Given the description of an element on the screen output the (x, y) to click on. 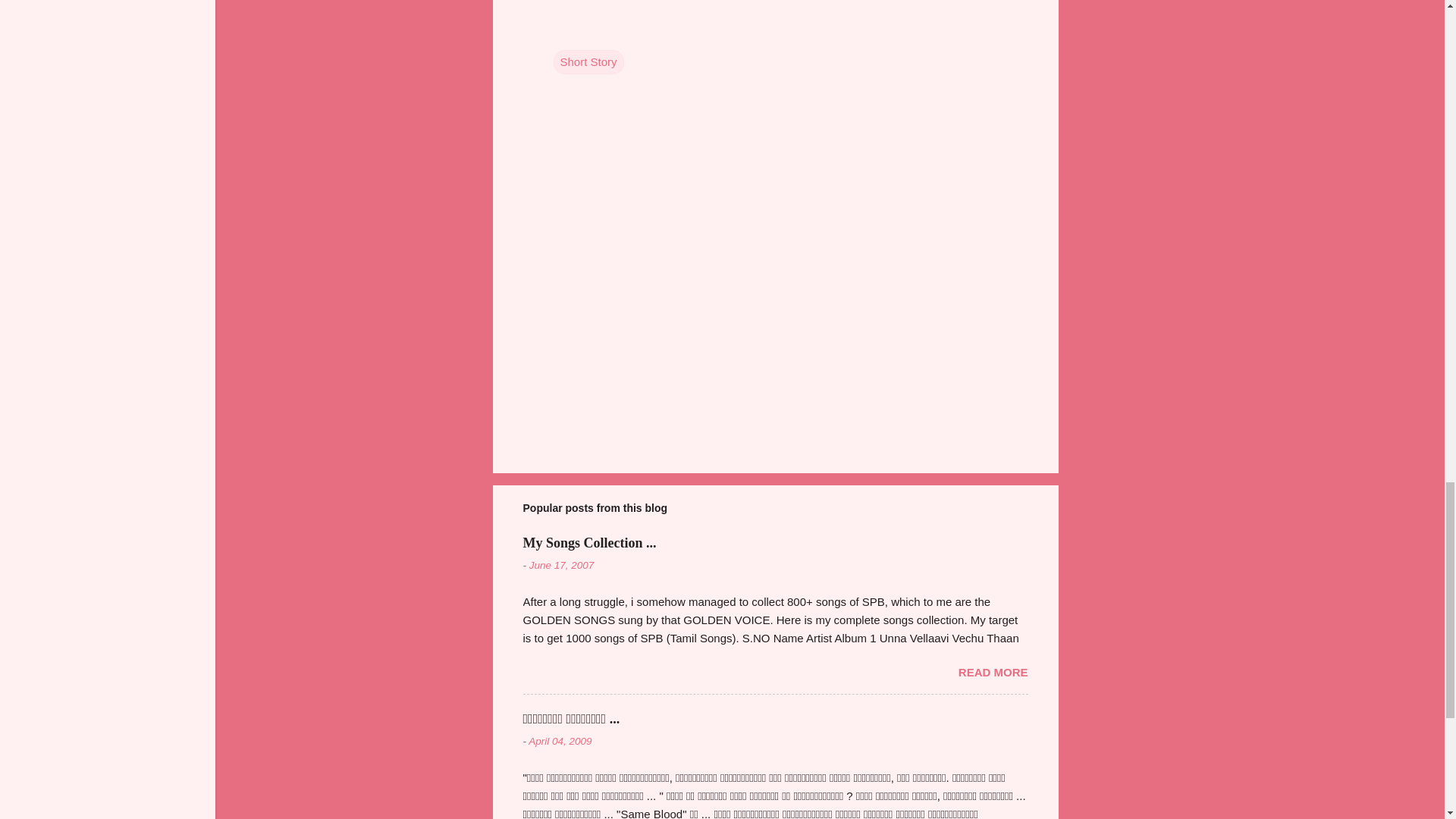
Email Post (562, 30)
April 04, 2009 (559, 740)
June 17, 2007 (561, 564)
READ MORE (992, 671)
My Songs Collection ... (589, 542)
Short Story (588, 61)
